Given the description of an element on the screen output the (x, y) to click on. 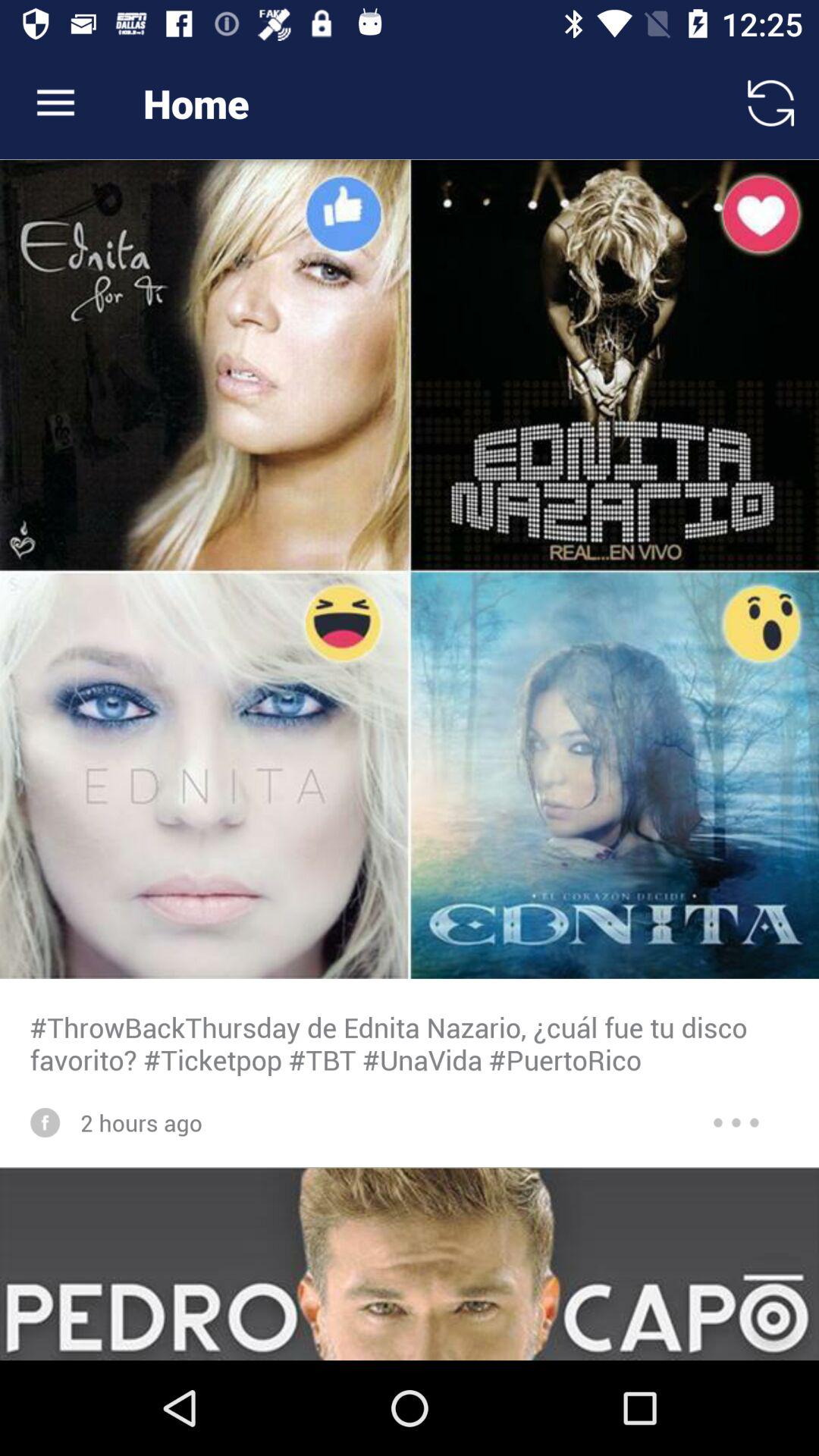
scroll until throwbackthursday de ednita item (409, 1043)
